Given the description of an element on the screen output the (x, y) to click on. 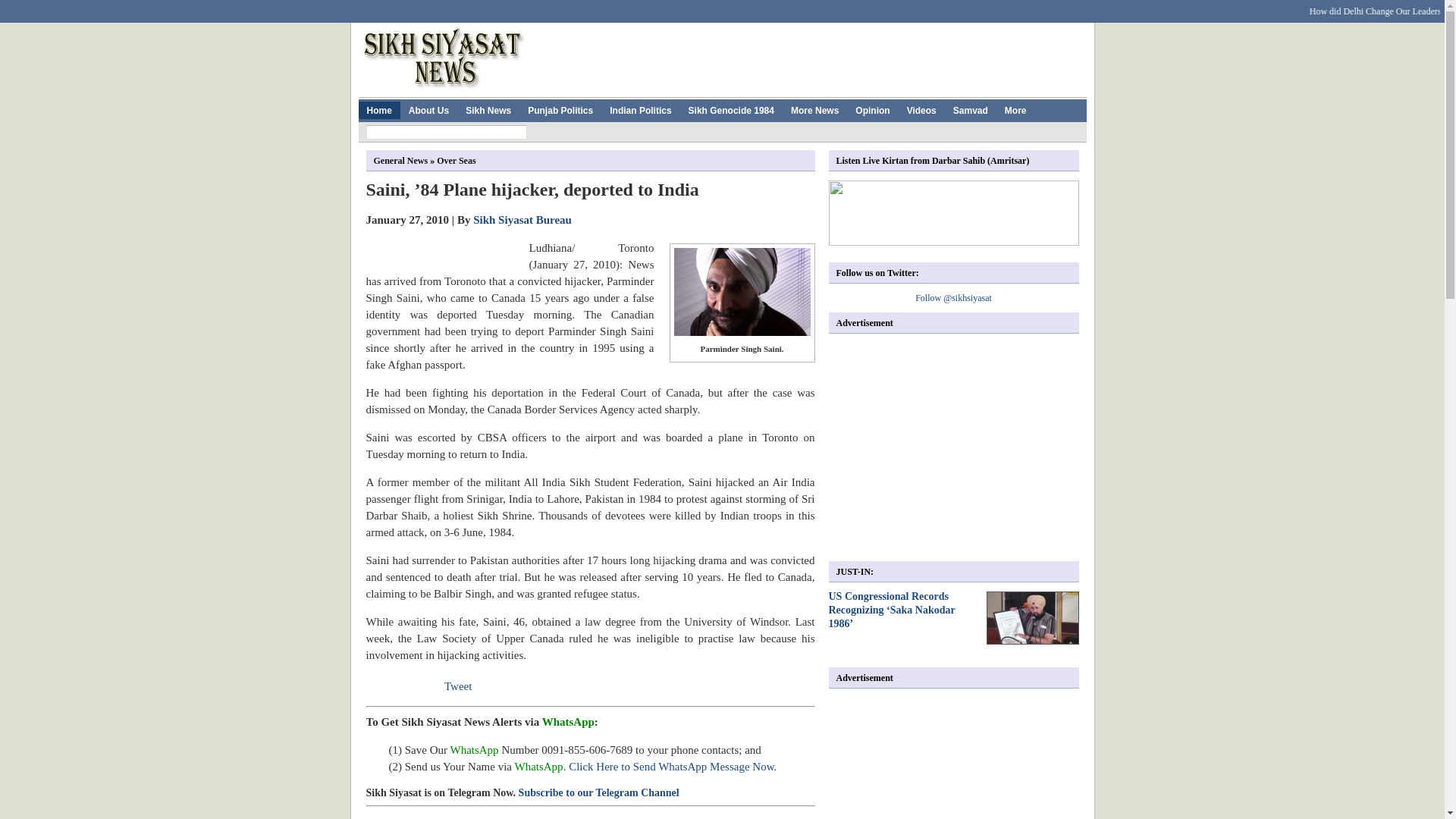
More News (815, 109)
Posts by Sikh Siyasat Bureau (522, 219)
Facebook (471, 6)
About Us (428, 109)
Indian Politics (640, 109)
More (1015, 109)
Sikh News (488, 109)
Subscribe to our RSS feed (1046, 6)
Parminder Singh Saini (740, 291)
Punjab Politics (560, 109)
